Given the description of an element on the screen output the (x, y) to click on. 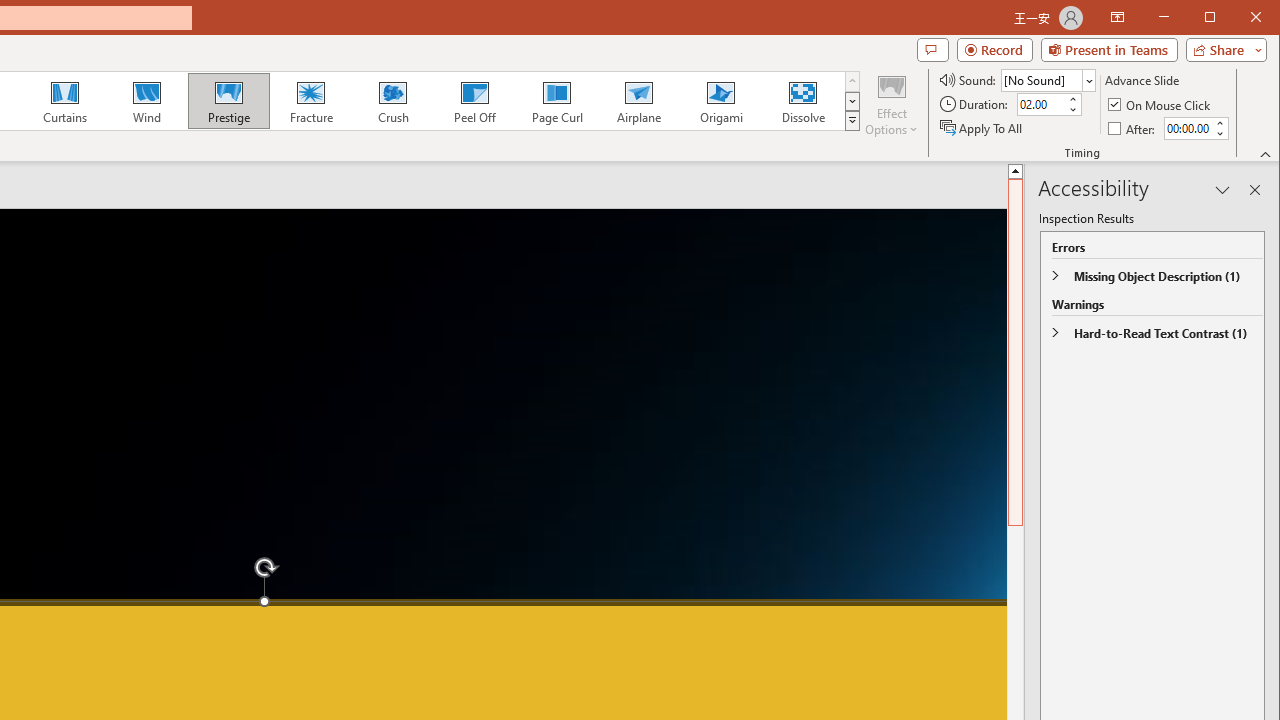
Comments (932, 49)
Row Down (852, 101)
Peel Off (474, 100)
After (1133, 127)
Effect Options (891, 104)
Minimize (1216, 18)
Close pane (1254, 189)
Present in Teams (1108, 49)
Collapse the Ribbon (1266, 154)
Prestige (229, 100)
Ribbon Display Options (1117, 17)
Fracture (311, 100)
Curtains (65, 100)
Less (1218, 133)
